Given the description of an element on the screen output the (x, y) to click on. 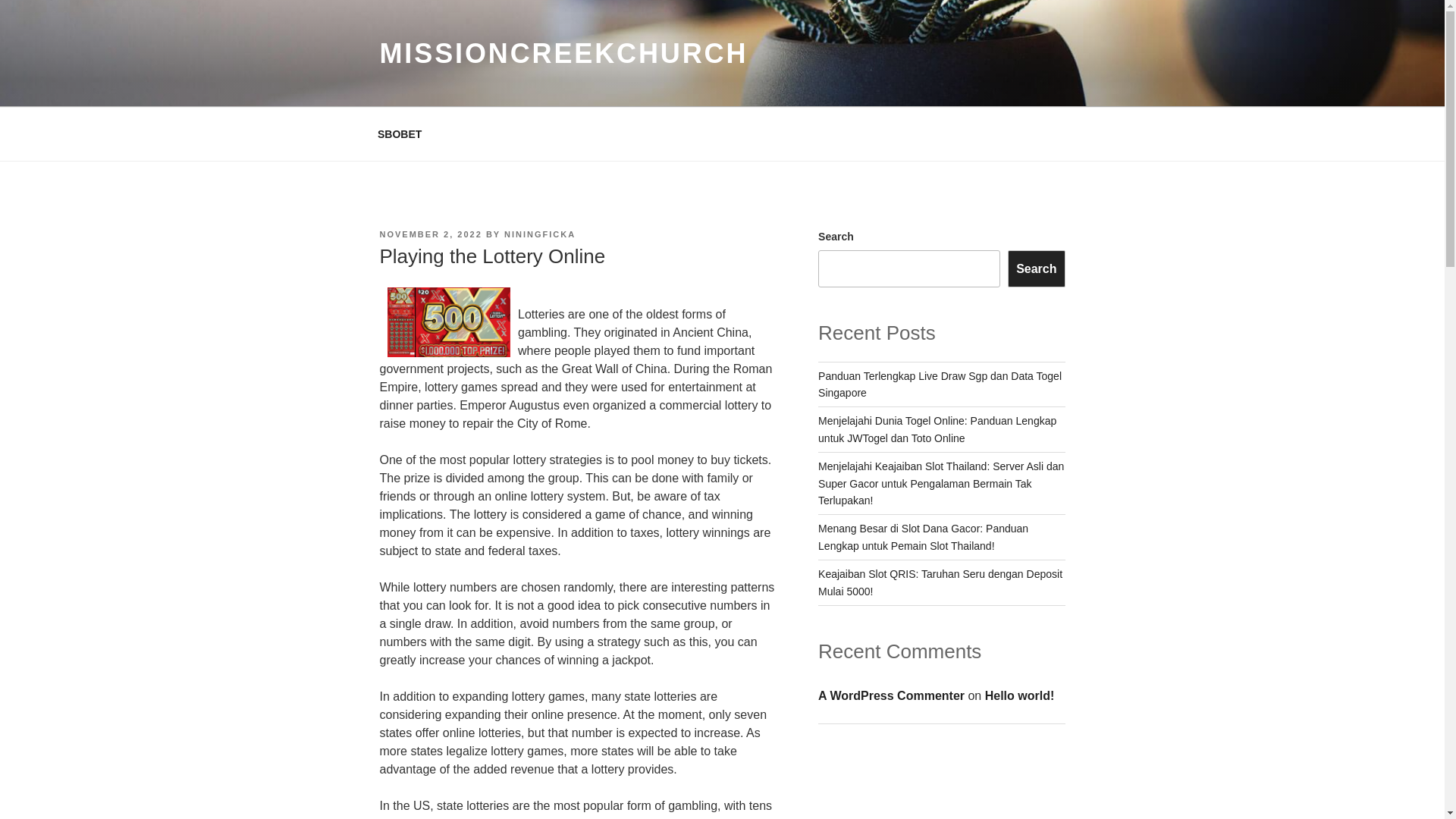
NININGFICKA (539, 234)
NOVEMBER 2, 2022 (429, 234)
Keajaiban Slot QRIS: Taruhan Seru dengan Deposit Mulai 5000! (940, 582)
Hello world! (1019, 695)
Search (1035, 268)
SBOBET (398, 133)
A WordPress Commenter (890, 695)
Panduan Terlengkap Live Draw Sgp dan Data Togel Singapore (939, 384)
MISSIONCREEKCHURCH (563, 52)
